Given the description of an element on the screen output the (x, y) to click on. 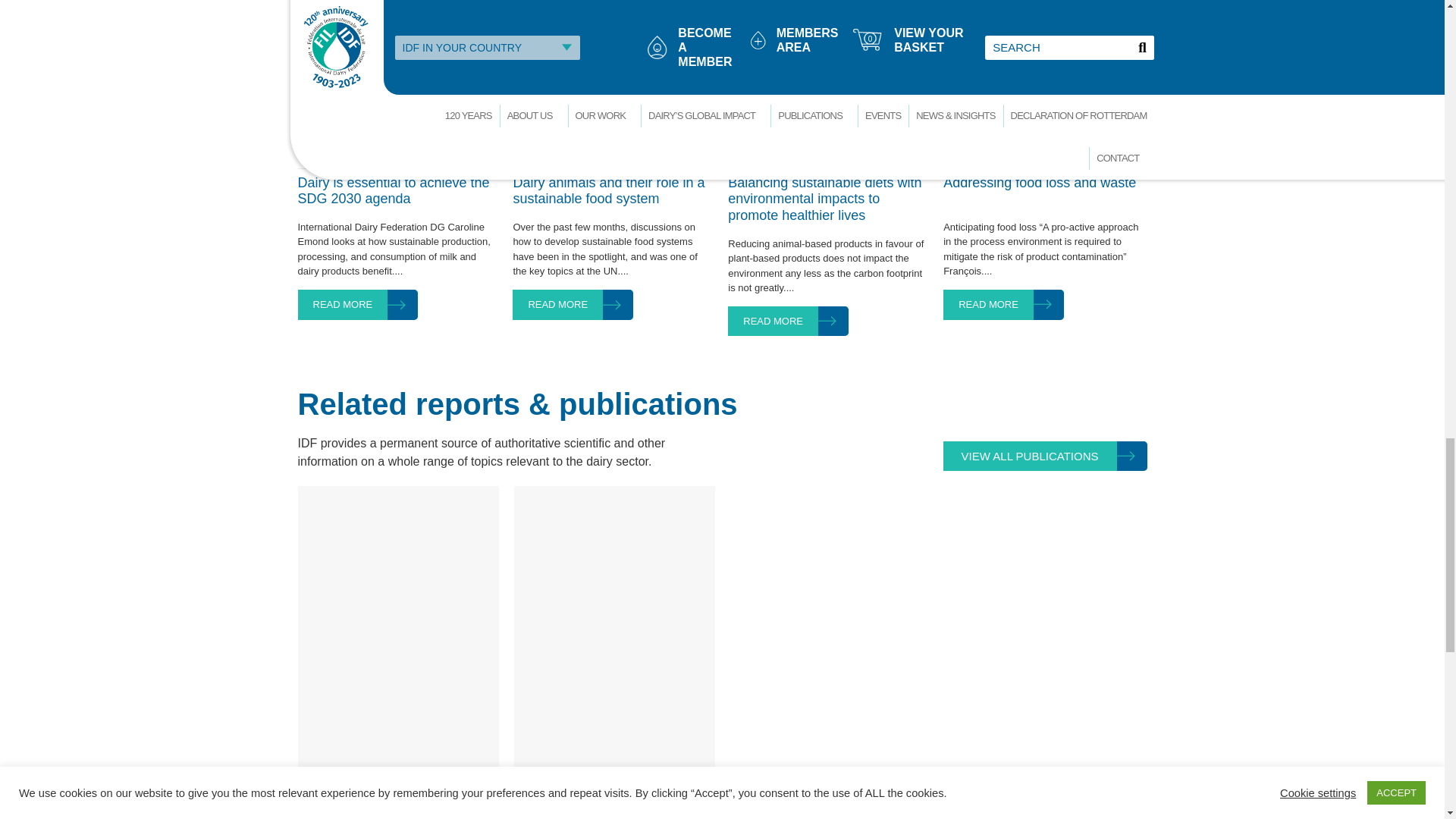
Issue 3: IDF Dairy Sustainability Outlook (397, 817)
